Given the description of an element on the screen output the (x, y) to click on. 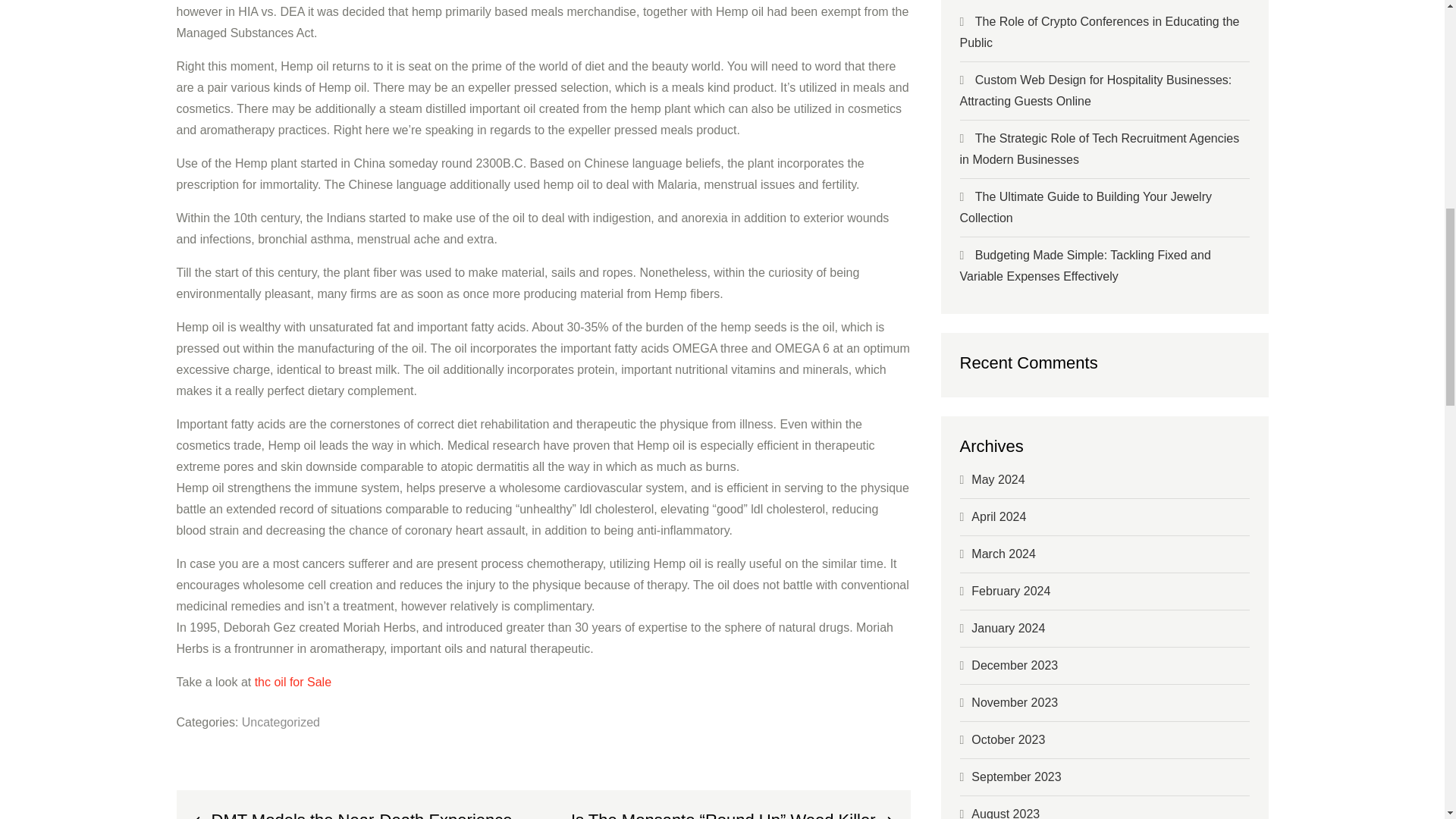
The Role of Crypto Conferences in Educating the Public (1099, 32)
January 2024 (1008, 627)
September 2023 (1016, 776)
April 2024 (998, 516)
February 2024 (1010, 590)
December 2023 (1014, 665)
May 2024 (998, 479)
August 2023 (1005, 813)
